Given the description of an element on the screen output the (x, y) to click on. 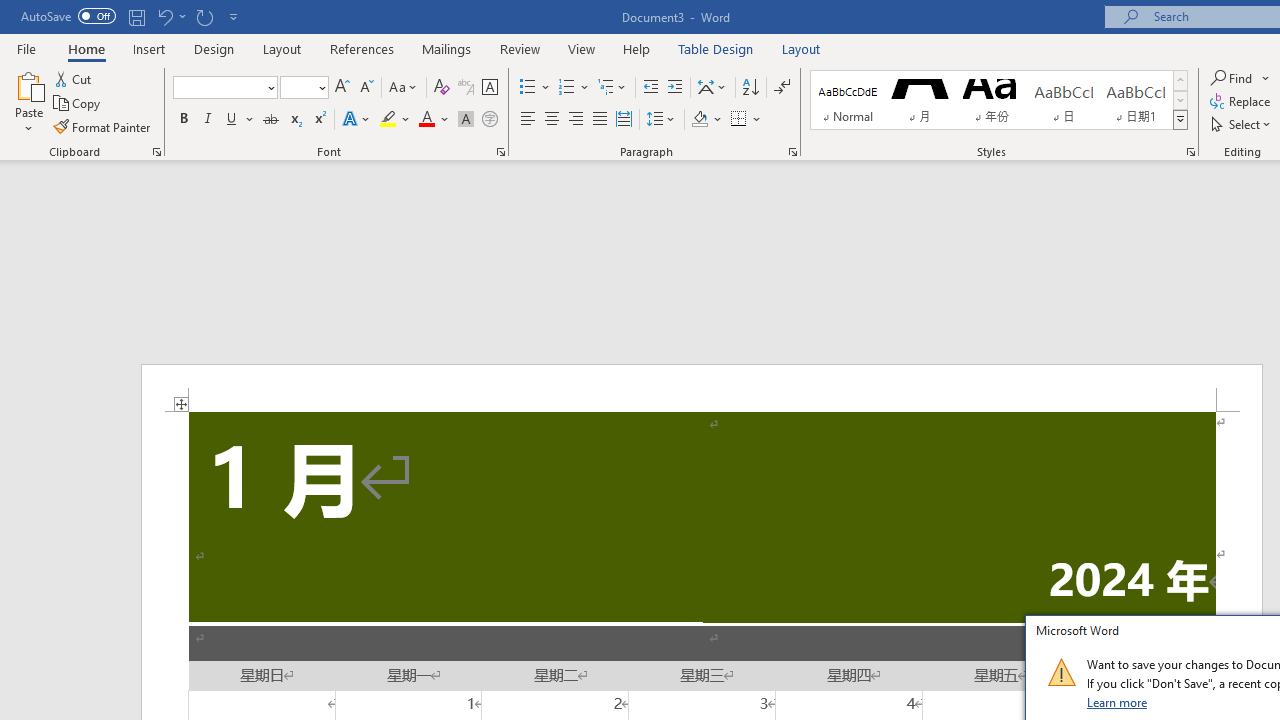
Format Painter (103, 126)
References (362, 48)
Subscript (294, 119)
Paragraph... (792, 151)
Decrease Indent (650, 87)
Font Color RGB(255, 0, 0) (426, 119)
Increase Indent (675, 87)
Row up (1179, 79)
Font... (500, 151)
Customize Quick Access Toolbar (234, 15)
Help (637, 48)
Bullets (535, 87)
Select (1242, 124)
More Options (1266, 78)
